Given the description of an element on the screen output the (x, y) to click on. 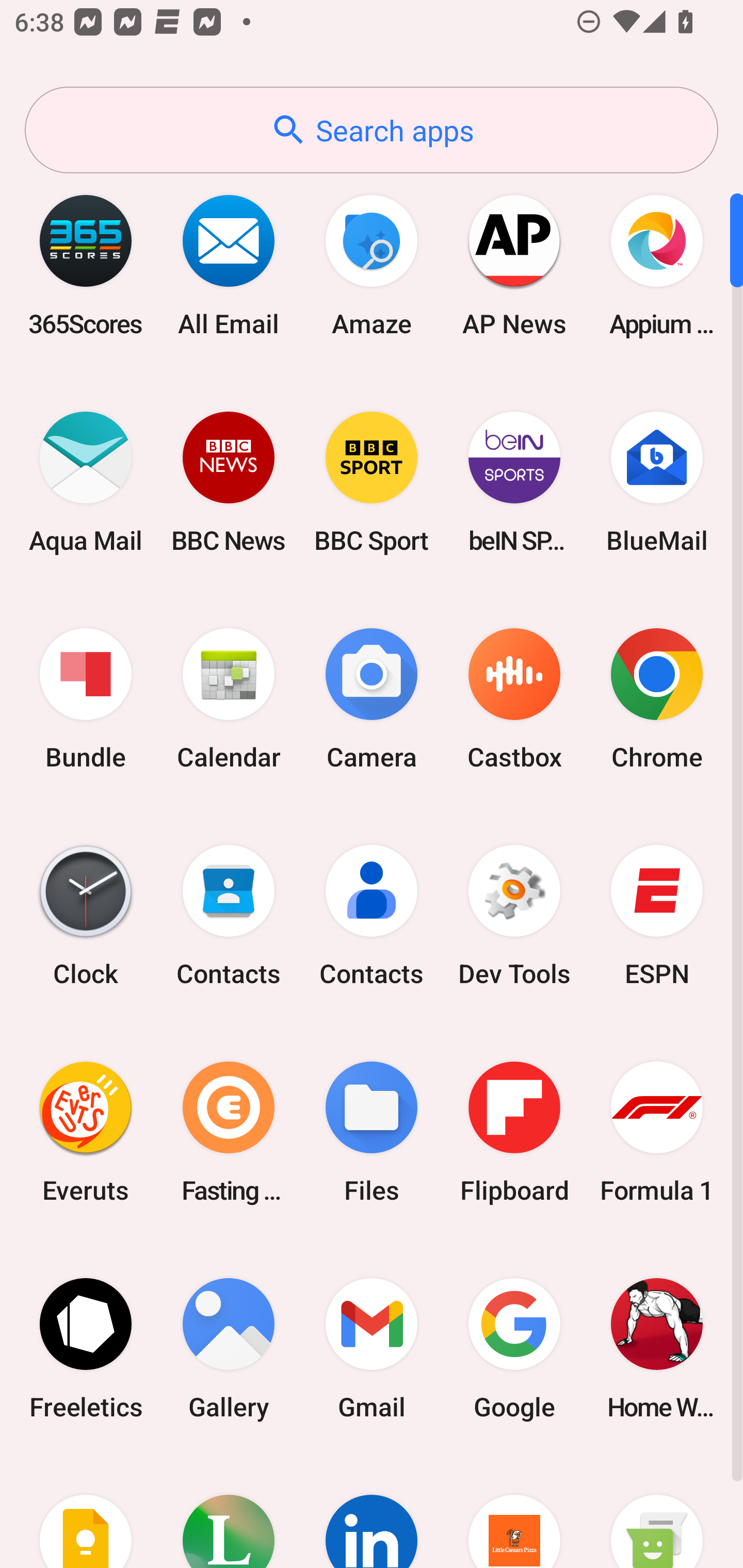
  Search apps (371, 130)
365Scores (85, 264)
All Email (228, 264)
Amaze (371, 264)
AP News (514, 264)
Appium Settings (656, 264)
Aqua Mail (85, 482)
BBC News (228, 482)
BBC Sport (371, 482)
beIN SPORTS (514, 482)
BlueMail (656, 482)
Bundle (85, 699)
Calendar (228, 699)
Camera (371, 699)
Castbox (514, 699)
Chrome (656, 699)
Clock (85, 915)
Contacts (228, 915)
Contacts (371, 915)
Dev Tools (514, 915)
ESPN (656, 915)
Everuts (85, 1131)
Fasting Coach (228, 1131)
Files (371, 1131)
Flipboard (514, 1131)
Formula 1 (656, 1131)
Freeletics (85, 1348)
Gallery (228, 1348)
Gmail (371, 1348)
Google (514, 1348)
Home Workout (656, 1348)
